Given the description of an element on the screen output the (x, y) to click on. 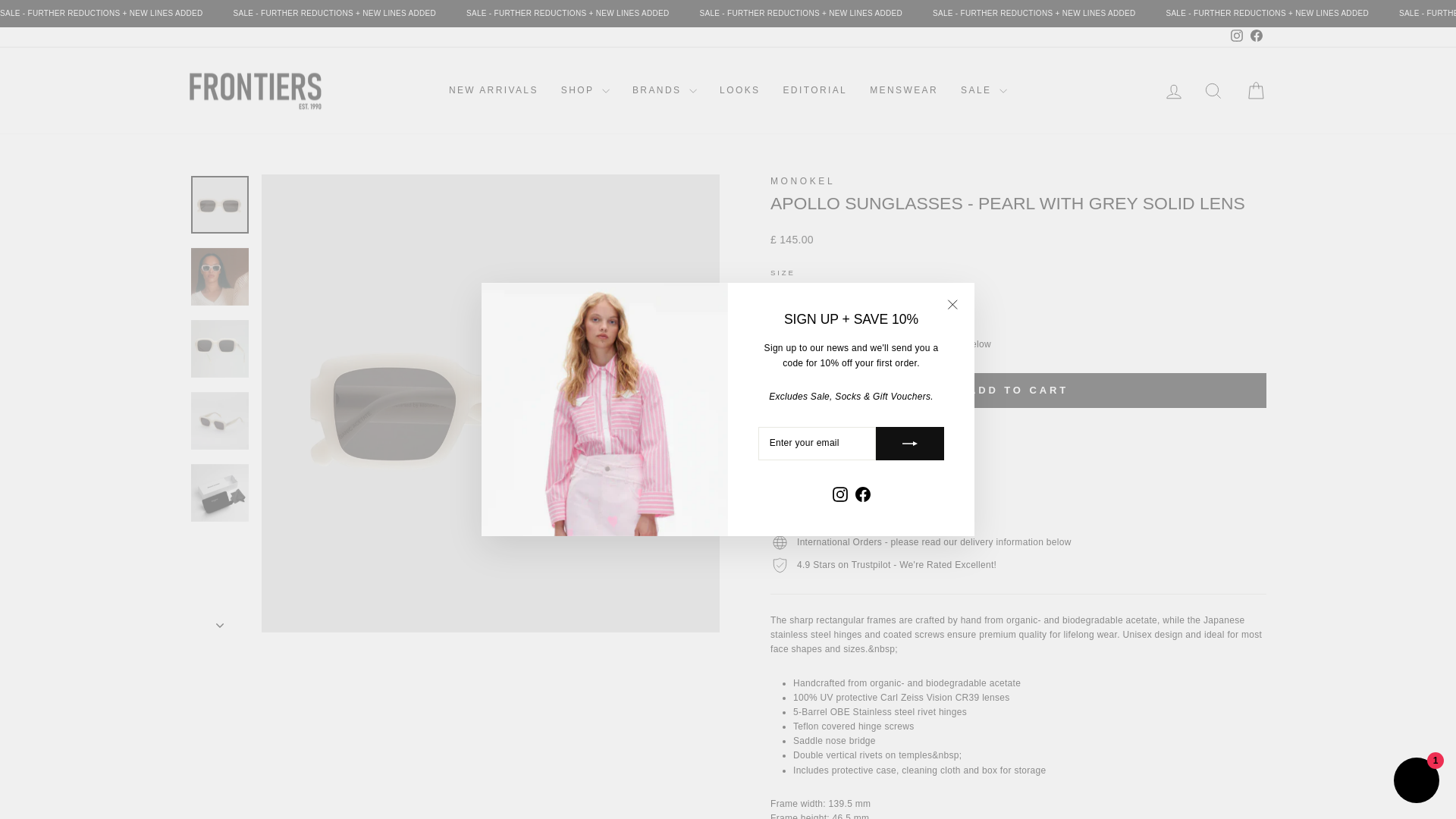
icon-chevron (219, 625)
instagram (1236, 35)
icon-X (952, 304)
ICON-SEARCH (1213, 90)
Shopify online store chat (1416, 781)
Frontiers Woman on Instagram (839, 494)
Frontiers Woman on Instagram (1236, 36)
Frontiers Woman on Facebook (861, 494)
Frontiers Woman on Facebook (1256, 36)
ACCOUNT (1174, 91)
